Given the description of an element on the screen output the (x, y) to click on. 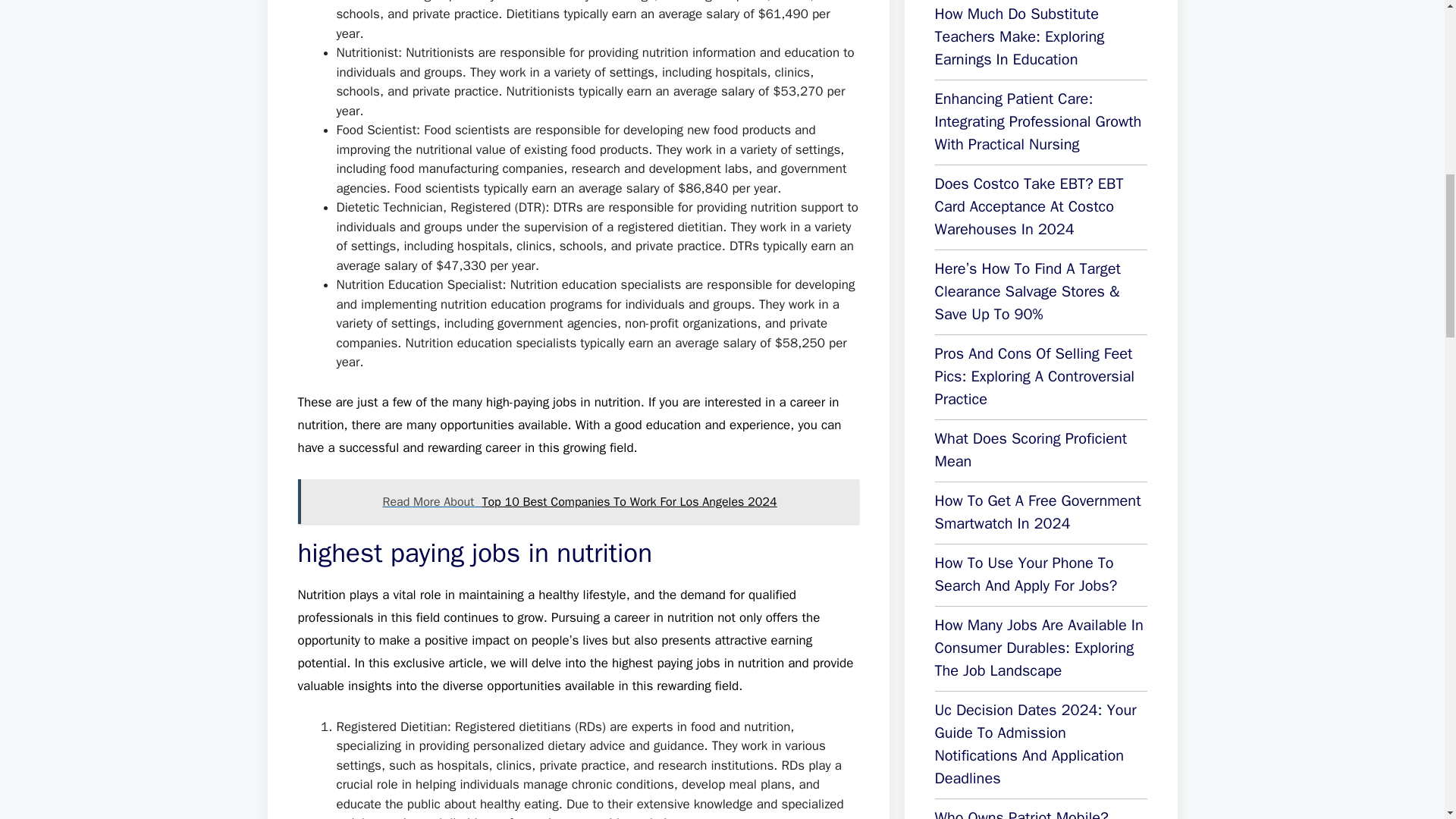
How To Get A Free Government Smartwatch In 2024 (1037, 512)
What Does Scoring Proficient Mean (1030, 449)
Scroll back to top (1406, 720)
How To Use Your Phone To Search And Apply For Jobs? (1025, 574)
